Given the description of an element on the screen output the (x, y) to click on. 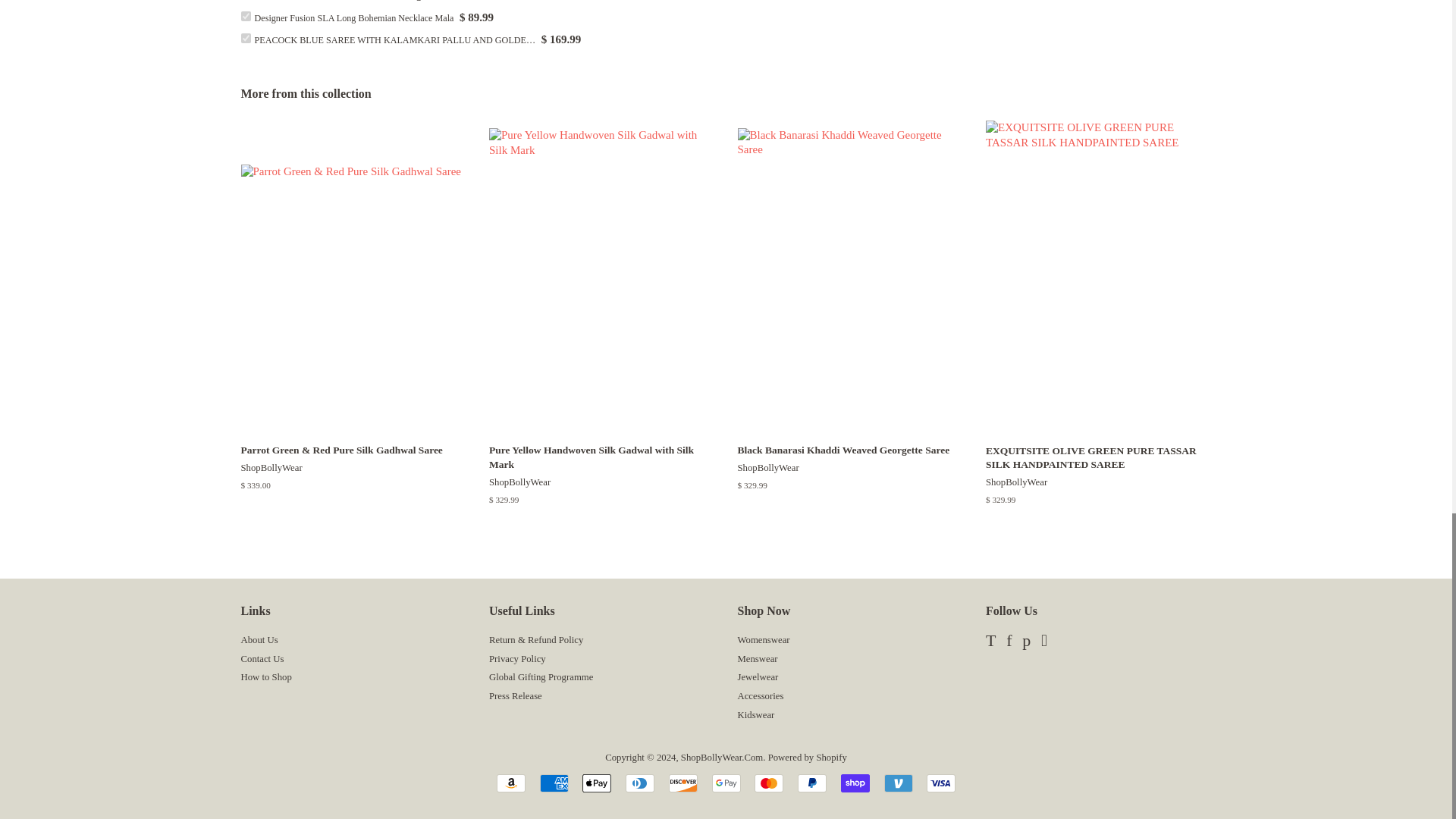
Amazon (510, 782)
Venmo (897, 782)
Discover (682, 782)
American Express (554, 782)
Visa (940, 782)
Apple Pay (596, 782)
on (245, 38)
Mastercard (768, 782)
PayPal (812, 782)
Shop Pay (855, 782)
Diners Club (639, 782)
on (245, 16)
ShopBollyWear.Com on Twitter (990, 643)
Google Pay (725, 782)
